Given the description of an element on the screen output the (x, y) to click on. 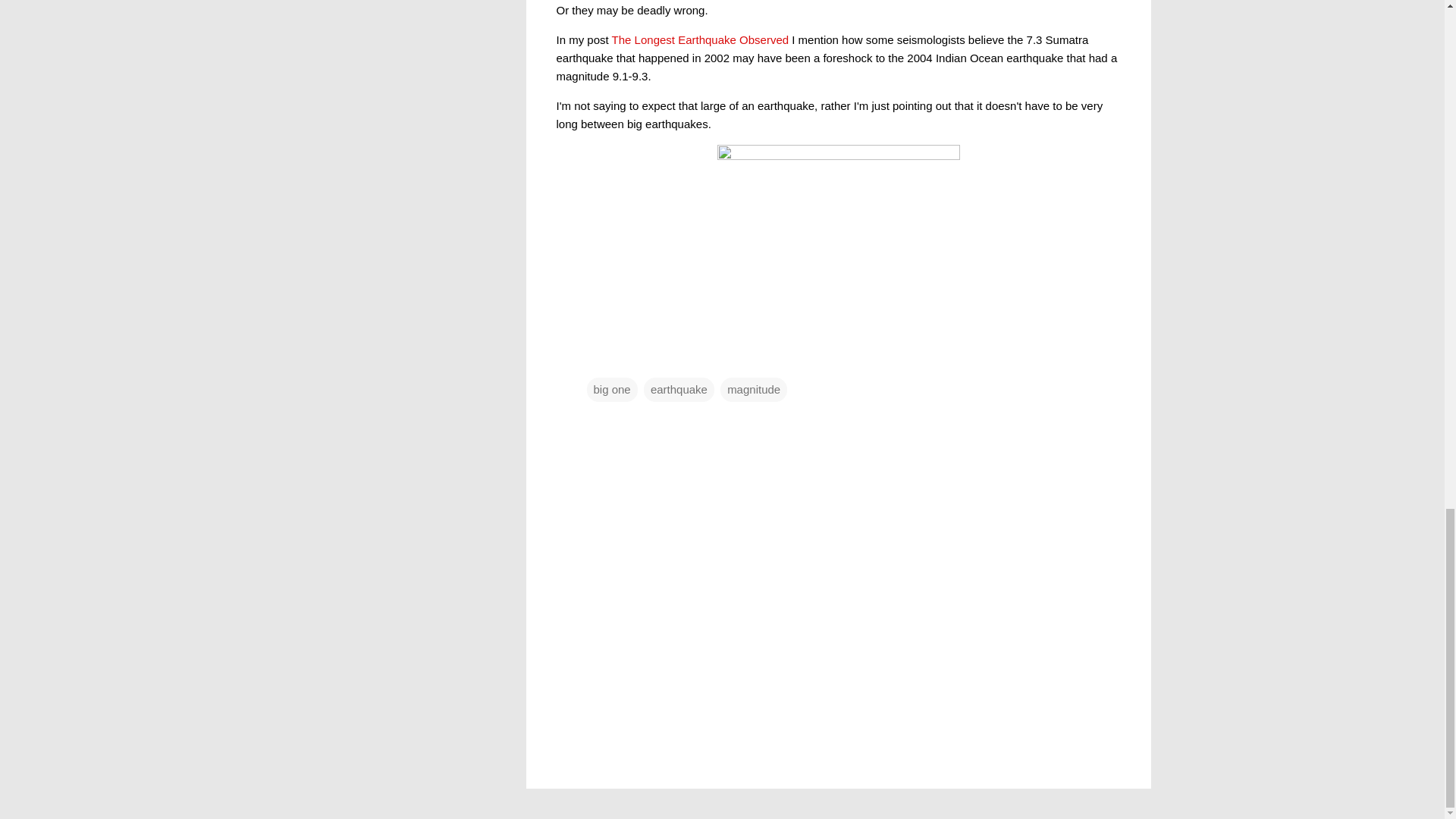
The Longest Earthquake Observed (700, 38)
big one (611, 388)
magnitude (753, 388)
earthquake (678, 388)
